Given the description of an element on the screen output the (x, y) to click on. 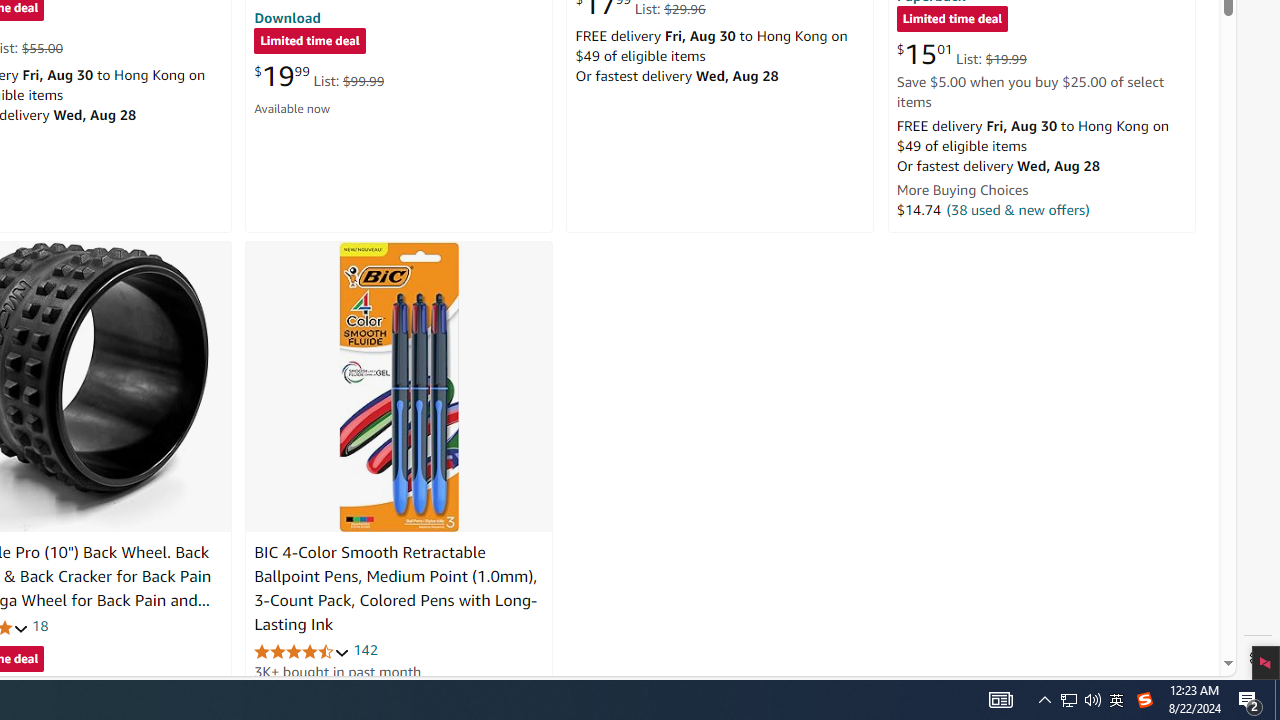
$19.99 List: $99.99 (319, 76)
18 (40, 625)
Limited time deal (952, 20)
Download (287, 17)
$15.01 List: $19.99 (961, 54)
(38 used & new offers) (1017, 209)
4.6 out of 5 stars (301, 650)
142 (365, 650)
